Given the description of an element on the screen output the (x, y) to click on. 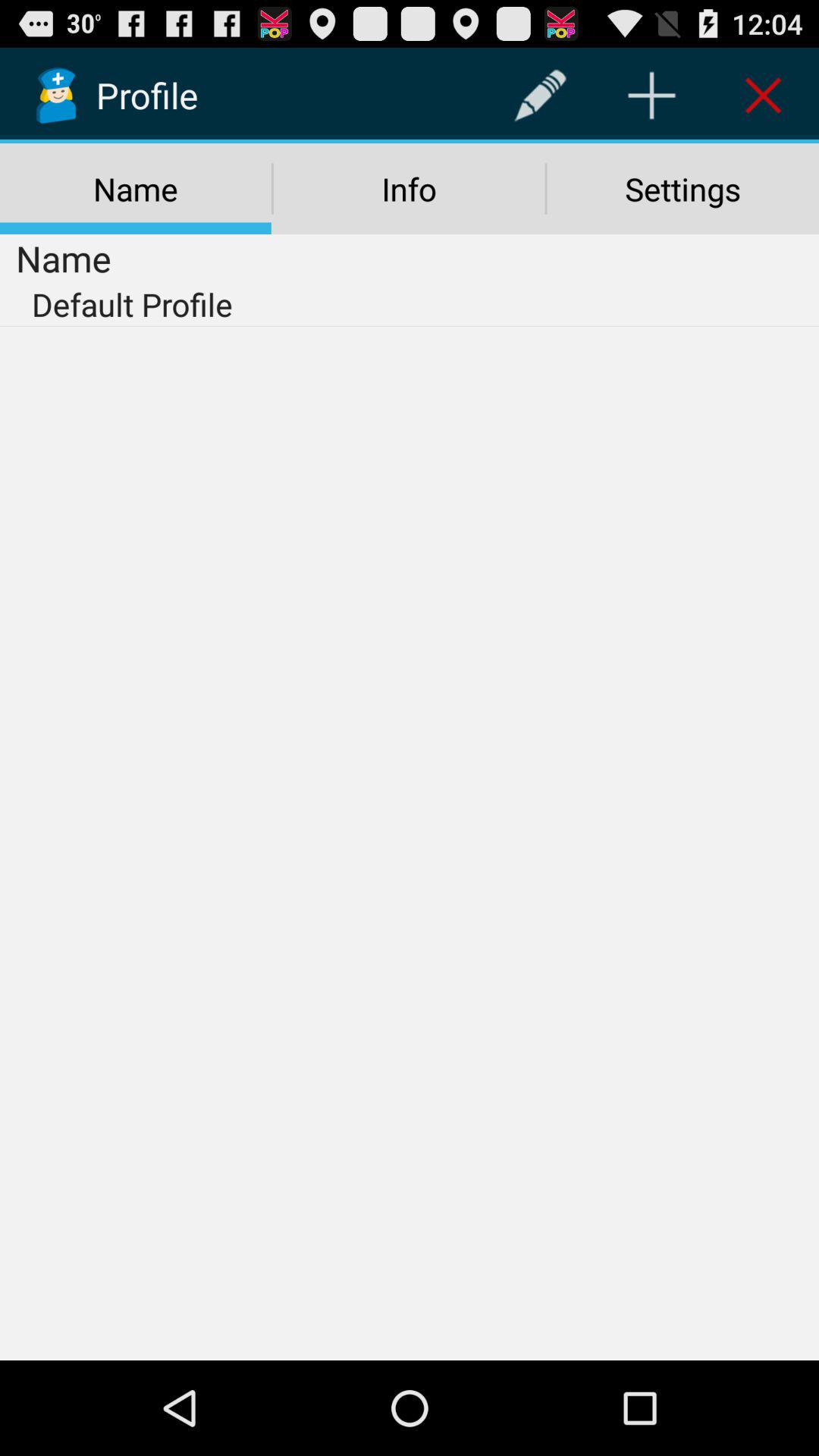
select the icon to the left of the settings item (408, 188)
